Given the description of an element on the screen output the (x, y) to click on. 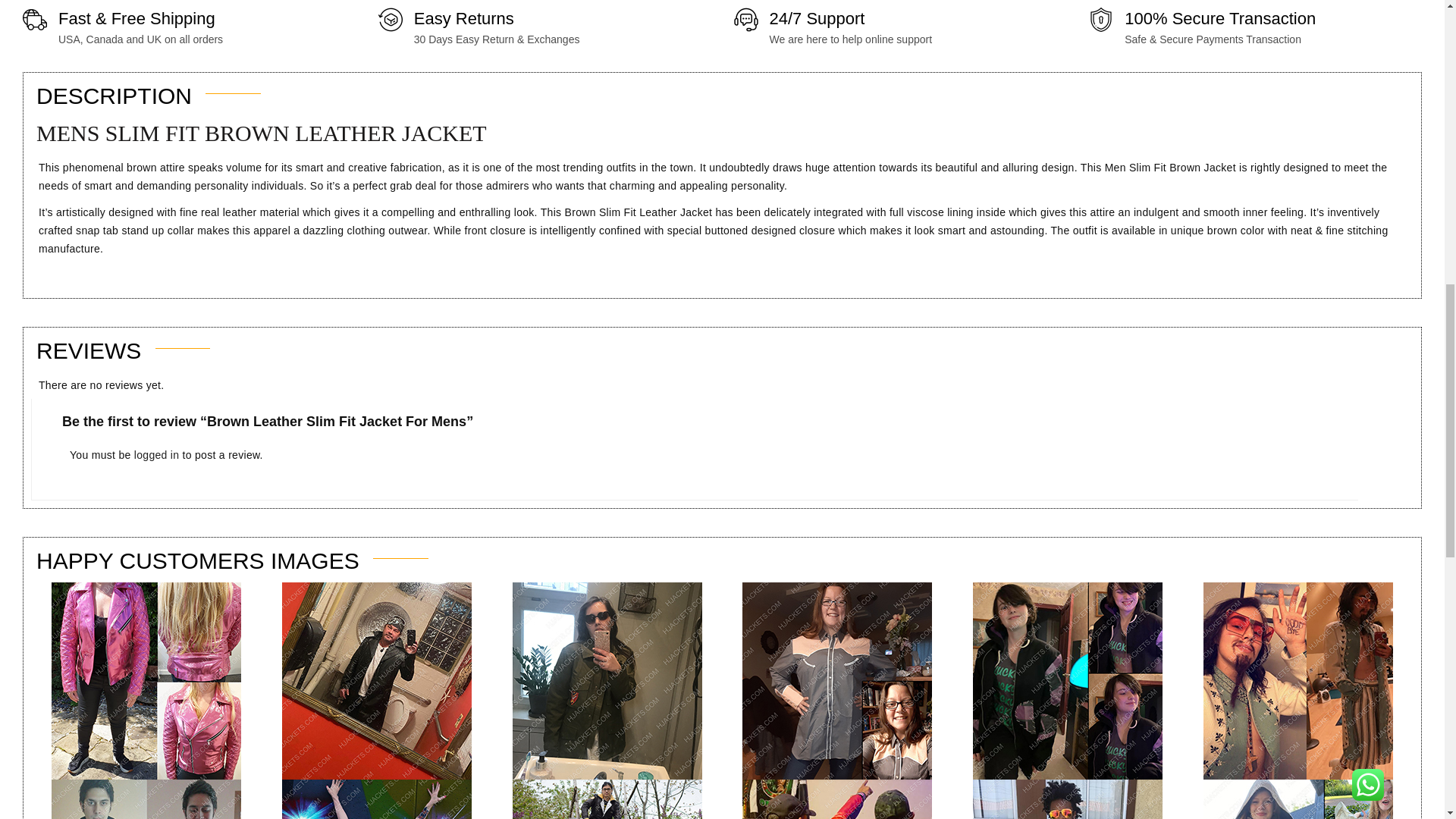
customer-support (745, 19)
